Given the description of an element on the screen output the (x, y) to click on. 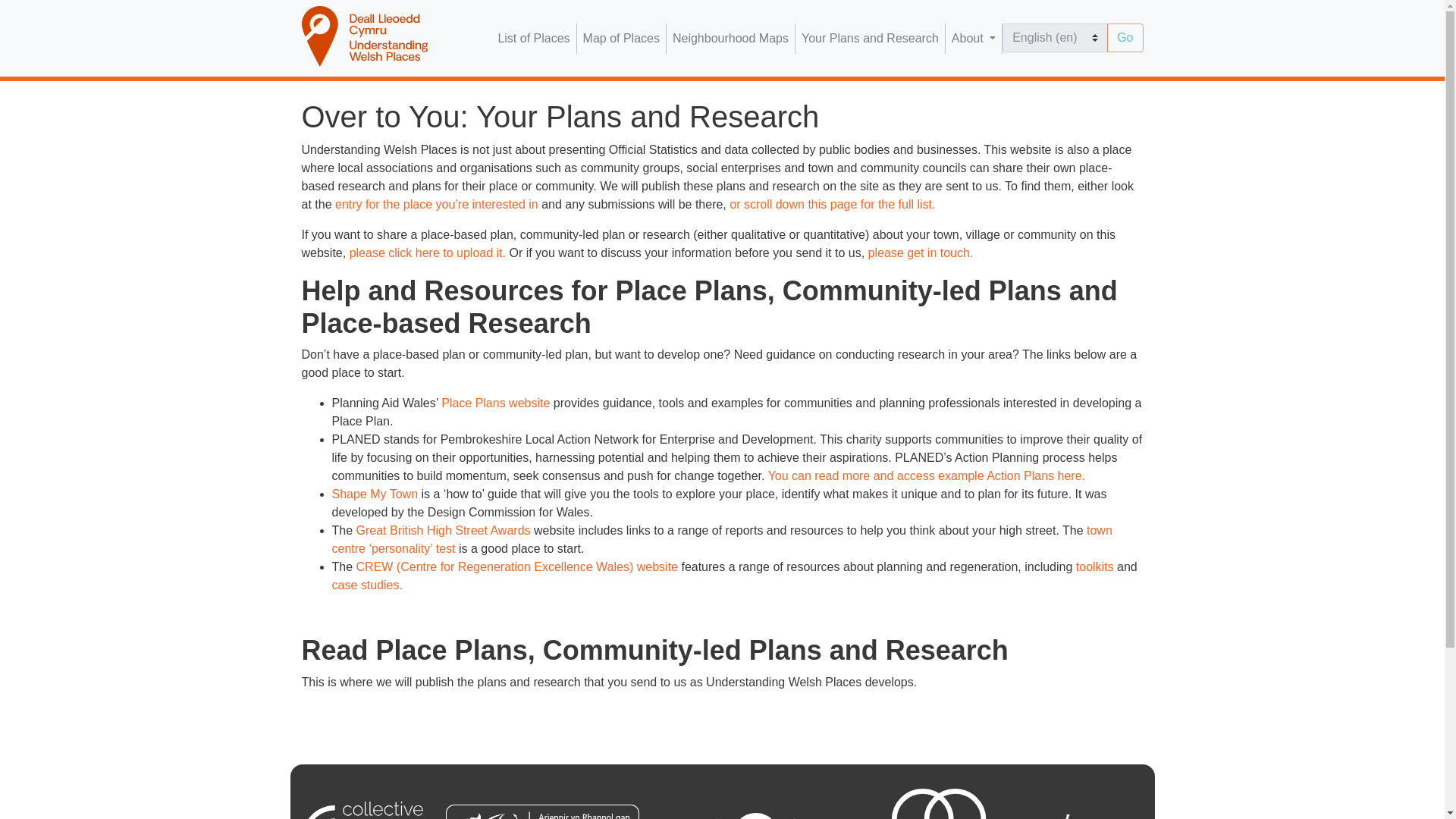
Great British High Street Awards (443, 530)
Shape My Town (375, 493)
List of Places (533, 38)
Place Plans website (495, 402)
please get in touch. (920, 252)
toolkits (1094, 566)
case studies. (367, 584)
About (972, 38)
or scroll down this page for the full list. (831, 204)
Your Plans and Research (869, 38)
Map of Places (620, 38)
Neighbourhood Maps (730, 38)
please click here to upload it. (427, 252)
Go (1124, 37)
You can read more and access example Action Plans here. (926, 475)
